Given the description of an element on the screen output the (x, y) to click on. 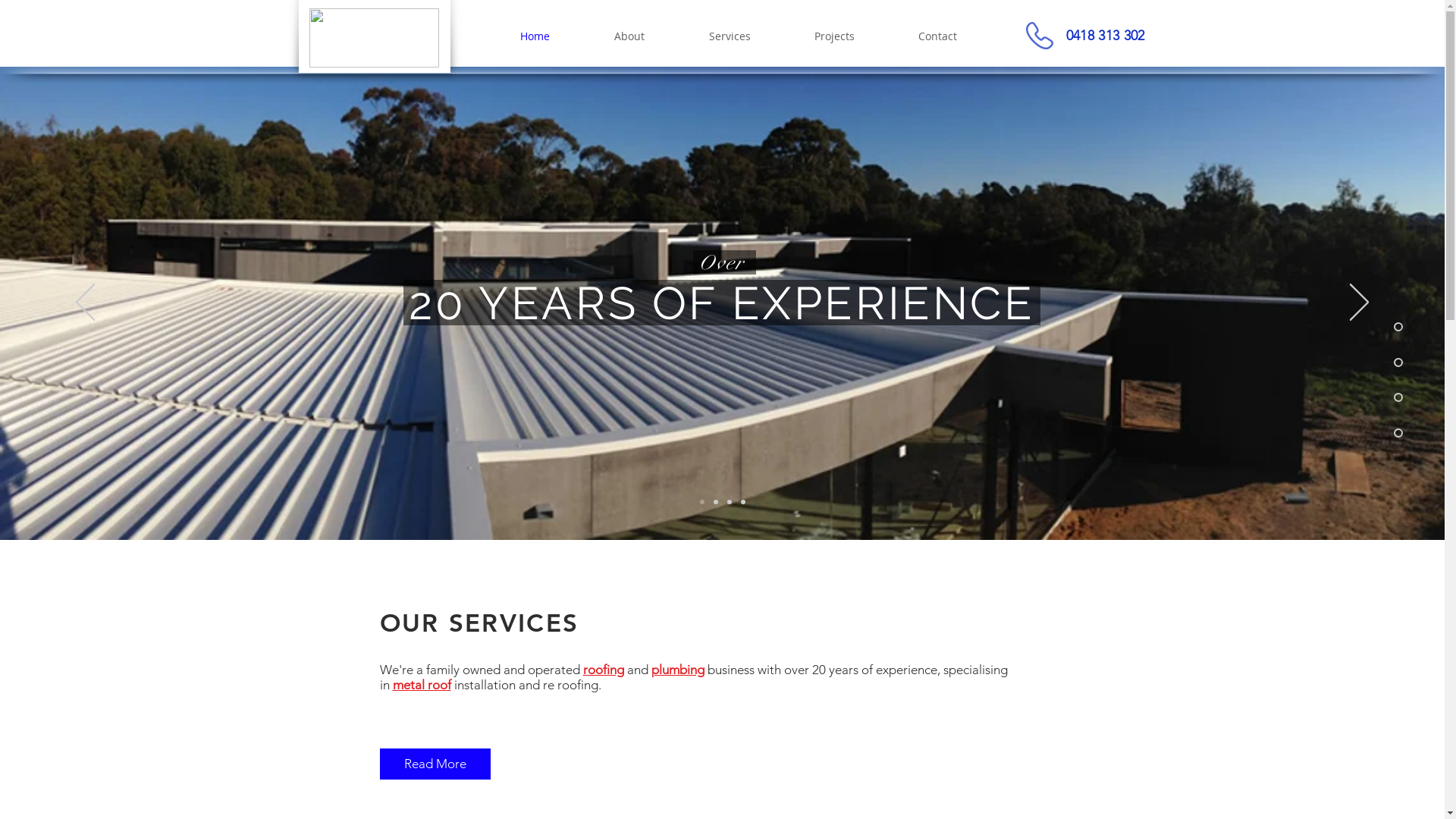
Contact Element type: text (936, 35)
Services Element type: text (728, 35)
Home Element type: text (535, 35)
metal roof Element type: text (421, 684)
About Element type: text (629, 35)
plumbing Element type: text (676, 669)
Projects Element type: text (834, 35)
Read More Element type: text (434, 763)
roofing Element type: text (602, 669)
